Given the description of an element on the screen output the (x, y) to click on. 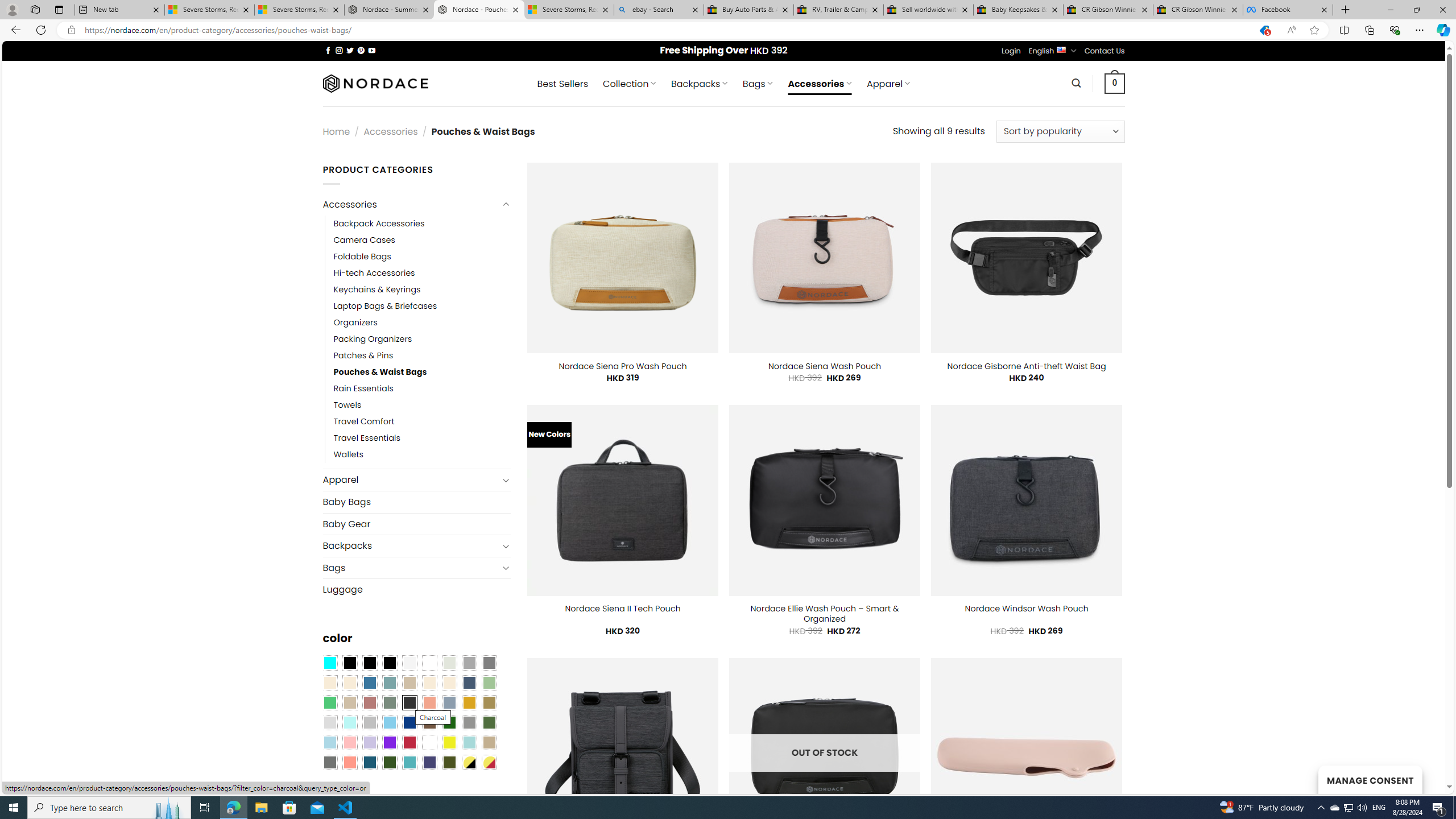
Organizers (355, 321)
Patches & Pins (422, 355)
All Black (349, 662)
Kelp (488, 702)
Nordace - Pouches & Waist Bags (478, 9)
Apparel (410, 479)
Coral (429, 702)
Blue (369, 681)
  Best Sellers (562, 83)
Black (369, 662)
MANAGE CONSENT (1369, 779)
Teal (408, 762)
